Given the description of an element on the screen output the (x, y) to click on. 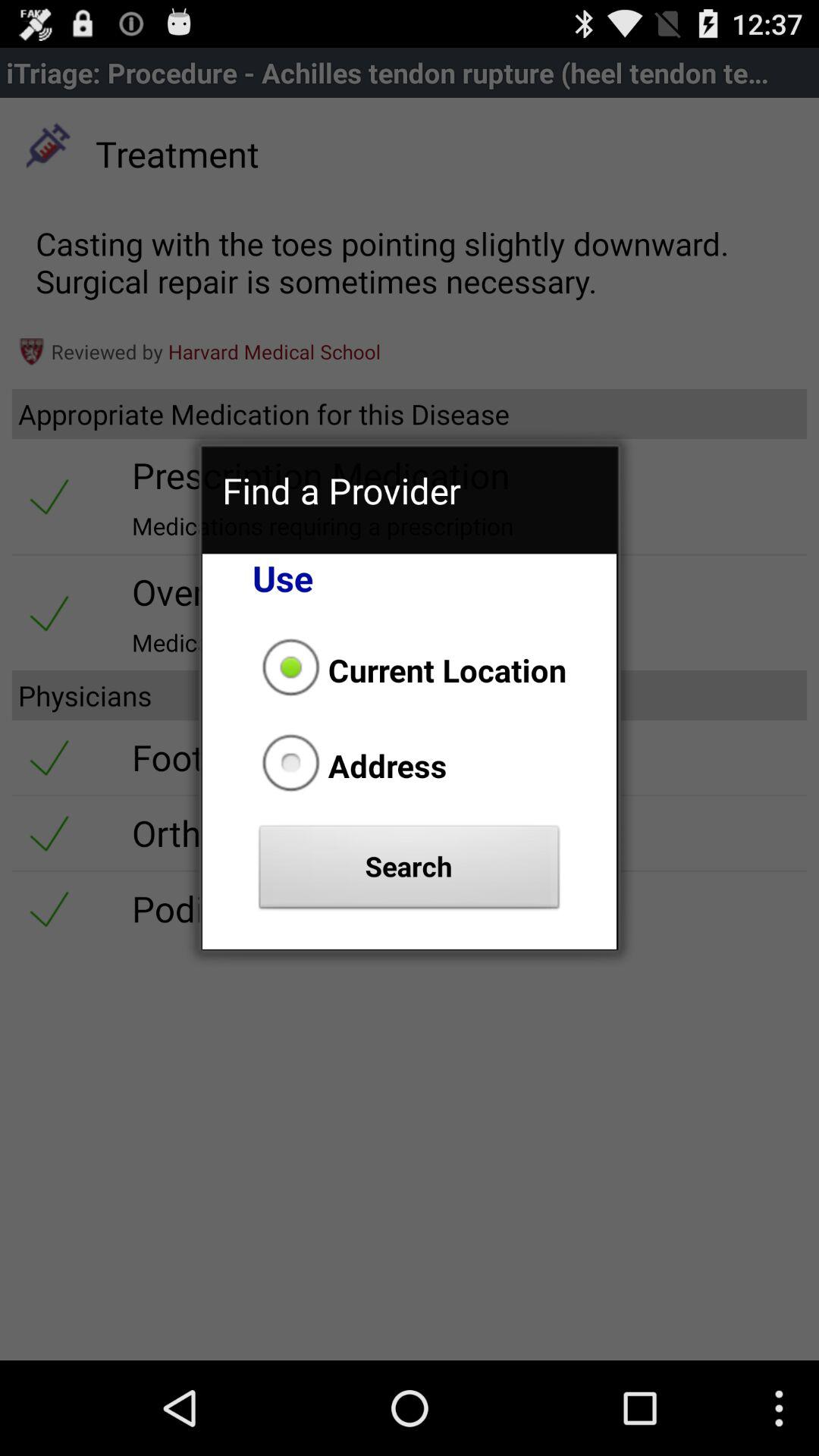
press the icon below address (409, 871)
